Given the description of an element on the screen output the (x, y) to click on. 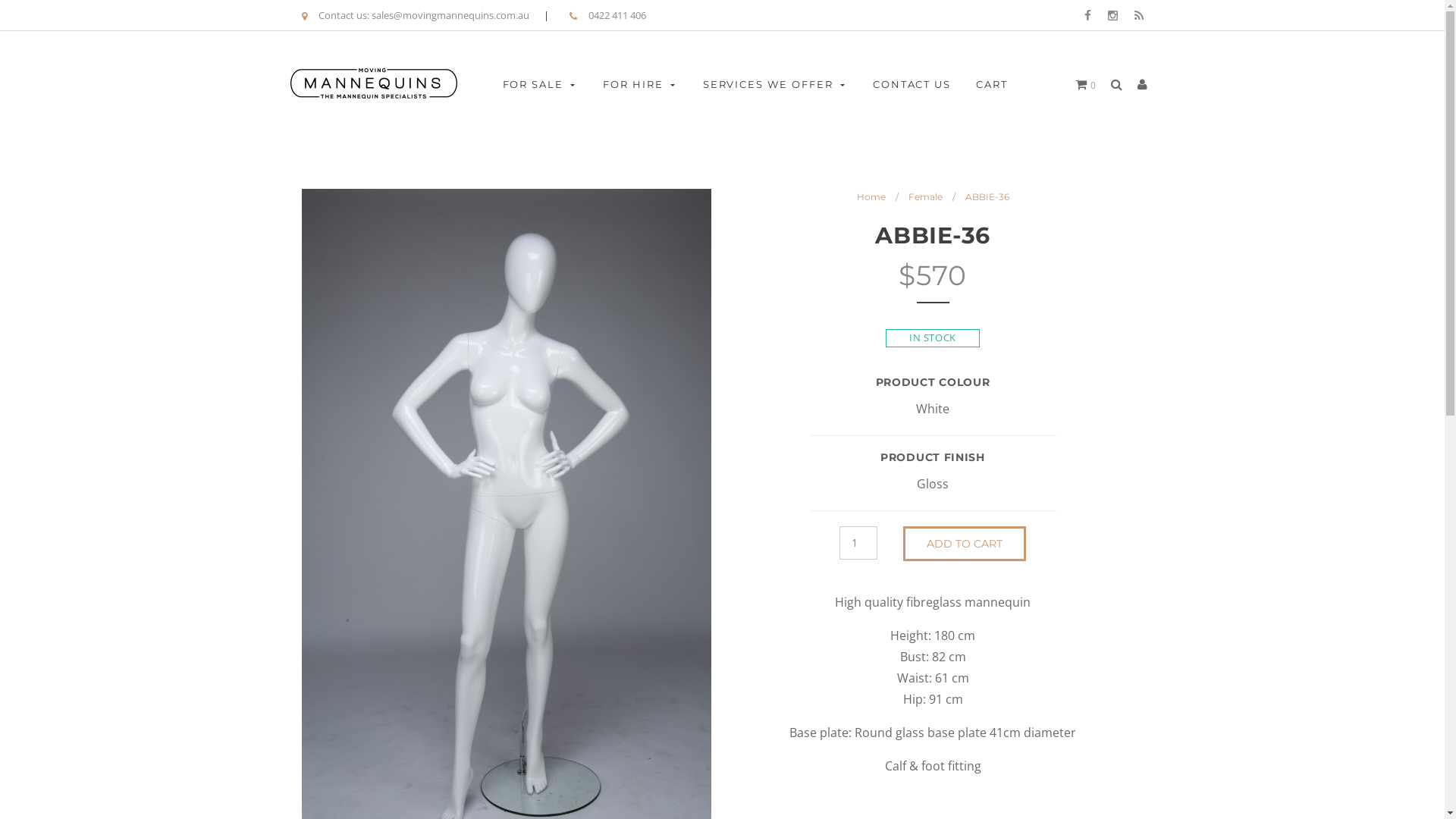
CONTACT US Element type: text (911, 83)
0422 411 406 Element type: text (615, 16)
ADD TO CART Element type: text (964, 543)
Qty Element type: hover (858, 542)
Female Element type: text (925, 196)
FOR HIRE Element type: text (639, 83)
SERVICES WE OFFER Element type: text (774, 83)
CART Element type: text (991, 83)
Facebook Element type: hover (1087, 15)
0 Element type: text (1085, 84)
Contact us: sales@movingmannequins.com.au Element type: text (423, 16)
Instagram Element type: hover (1112, 15)
FOR SALE Element type: text (539, 83)
Home Element type: text (870, 196)
RSS Element type: hover (1138, 15)
